Given the description of an element on the screen output the (x, y) to click on. 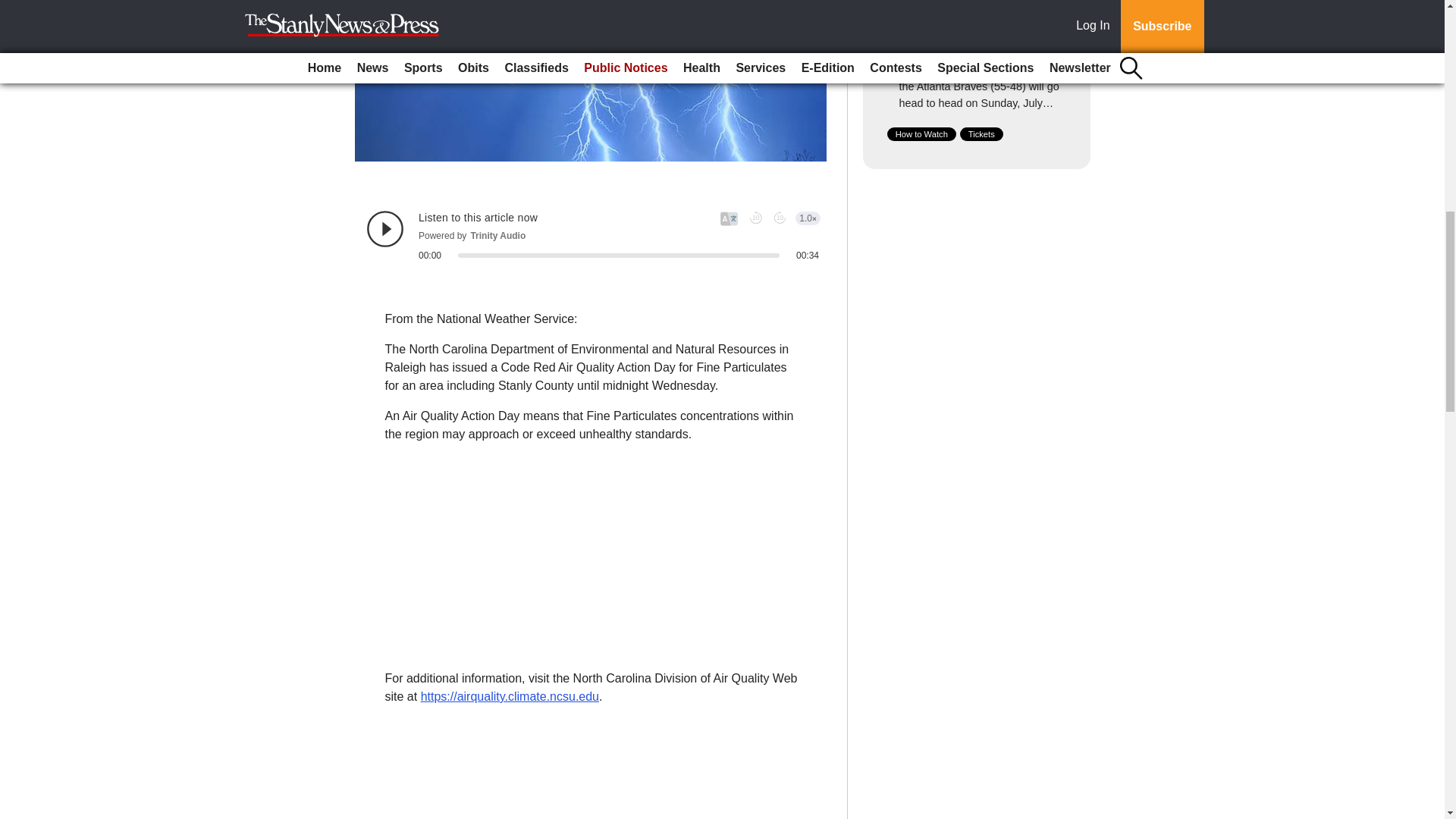
Trinity Audio Player (592, 235)
